Given the description of an element on the screen output the (x, y) to click on. 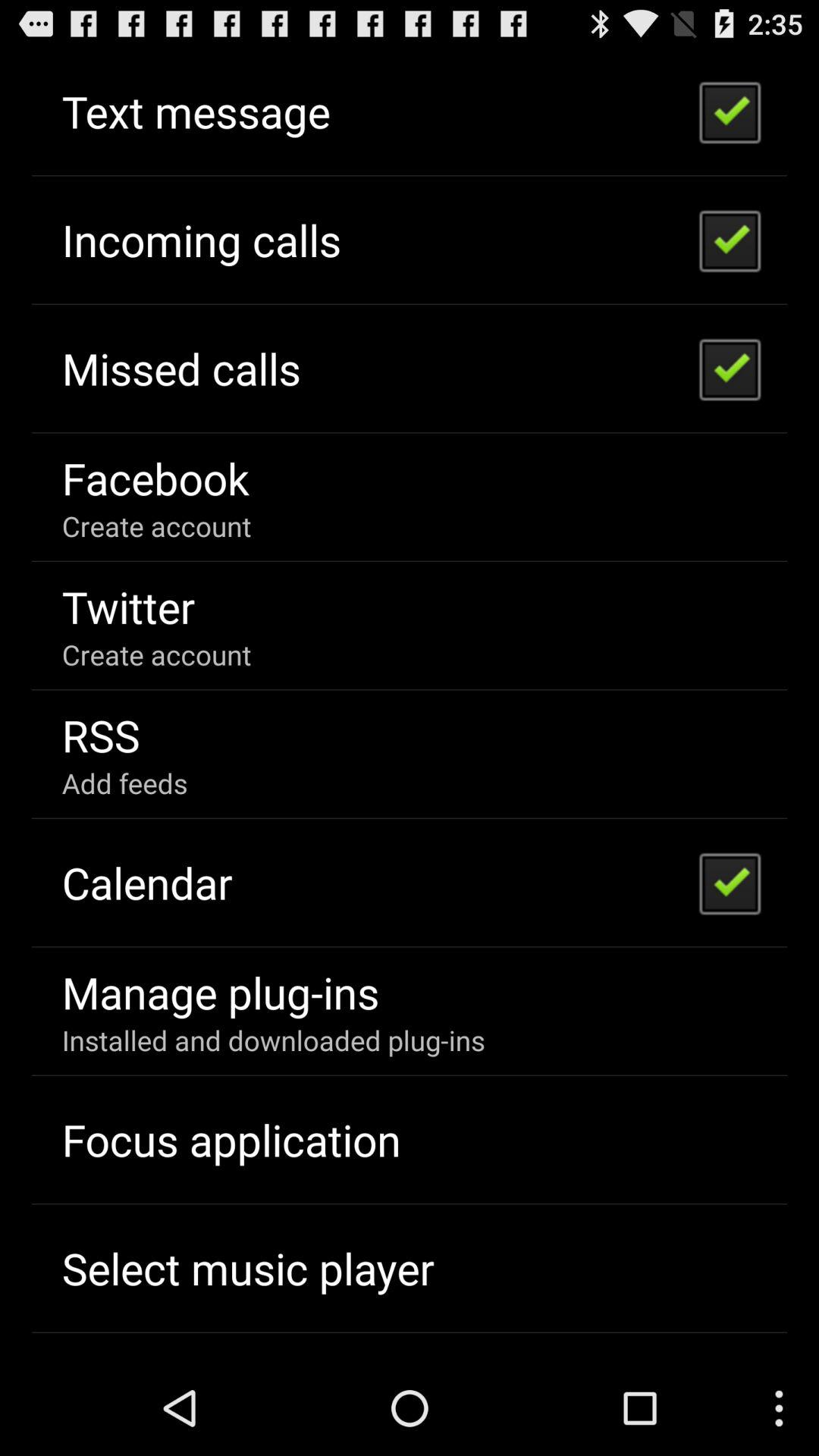
select the installed and downloaded (273, 1040)
